Given the description of an element on the screen output the (x, y) to click on. 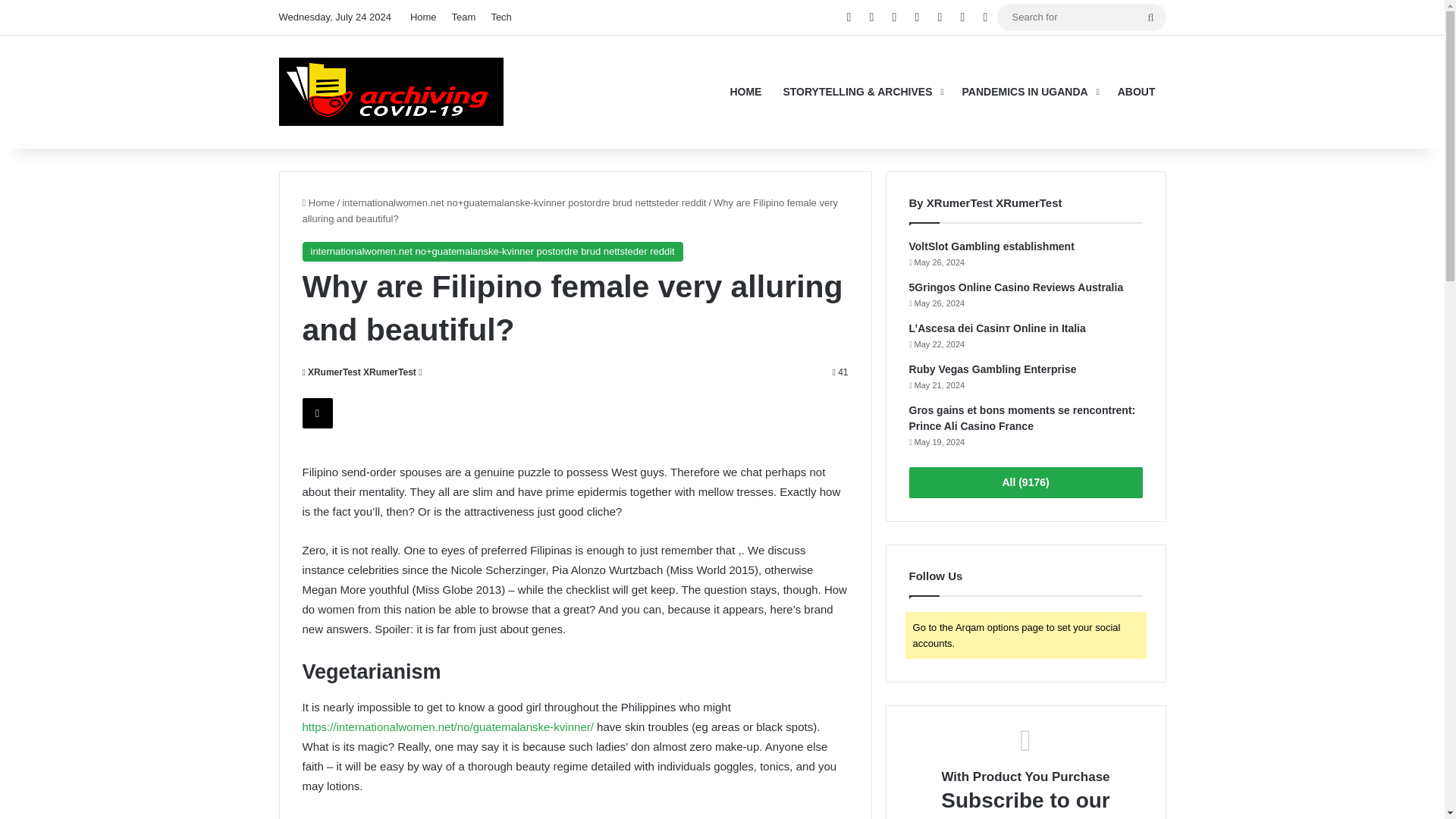
Team (463, 17)
Archiving COVID-19 (391, 91)
Home (423, 17)
Home (317, 202)
X (316, 413)
Tech (500, 17)
Search for (1150, 17)
XRumerTest XRumerTest (357, 371)
X (316, 413)
PANDEMICS IN UGANDA (1029, 91)
XRumerTest XRumerTest (357, 371)
Search for (1081, 16)
